Given the description of an element on the screen output the (x, y) to click on. 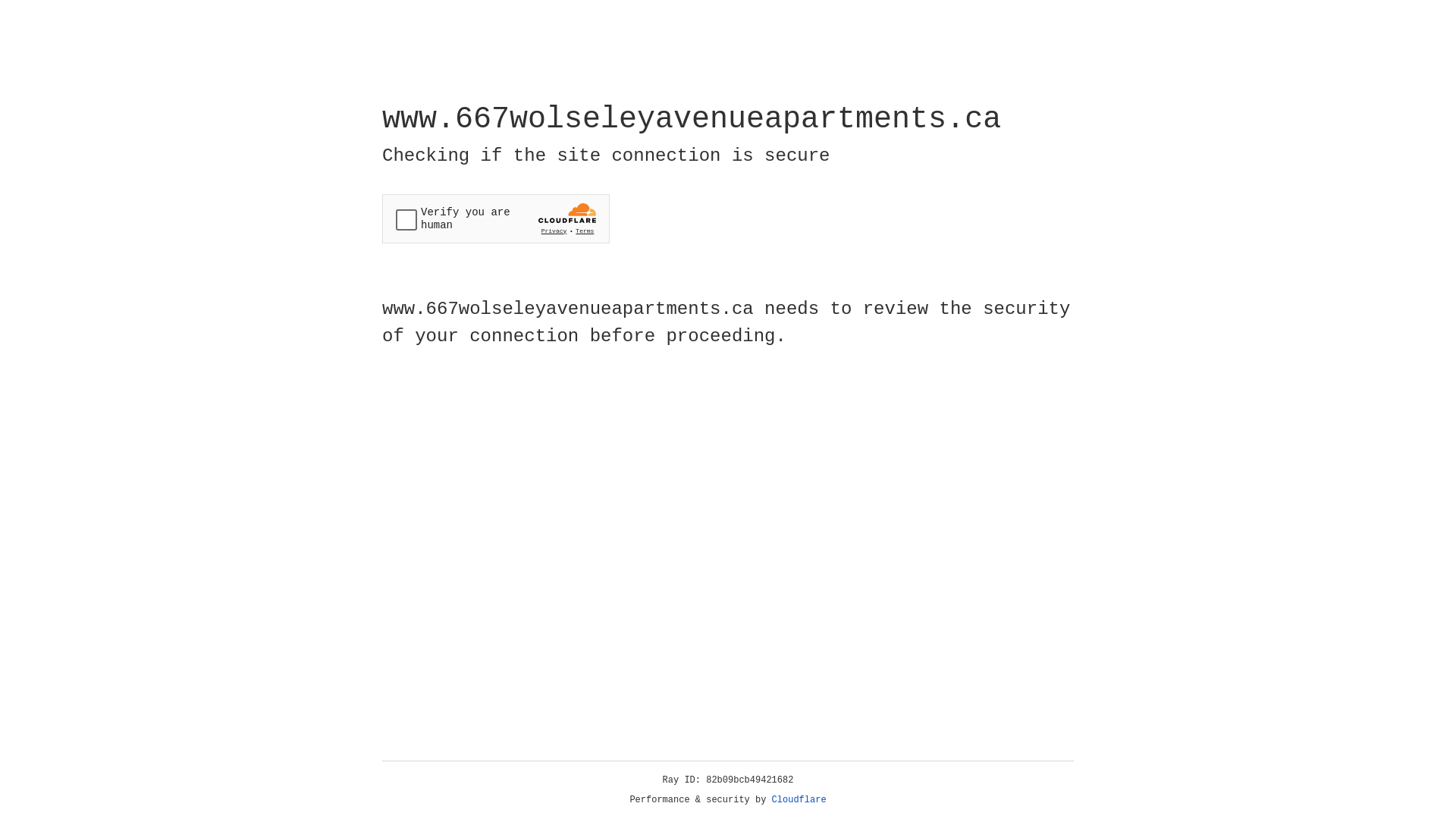
Widget containing a Cloudflare security challenge Element type: hover (495, 218)
Cloudflare Element type: text (798, 799)
